Given the description of an element on the screen output the (x, y) to click on. 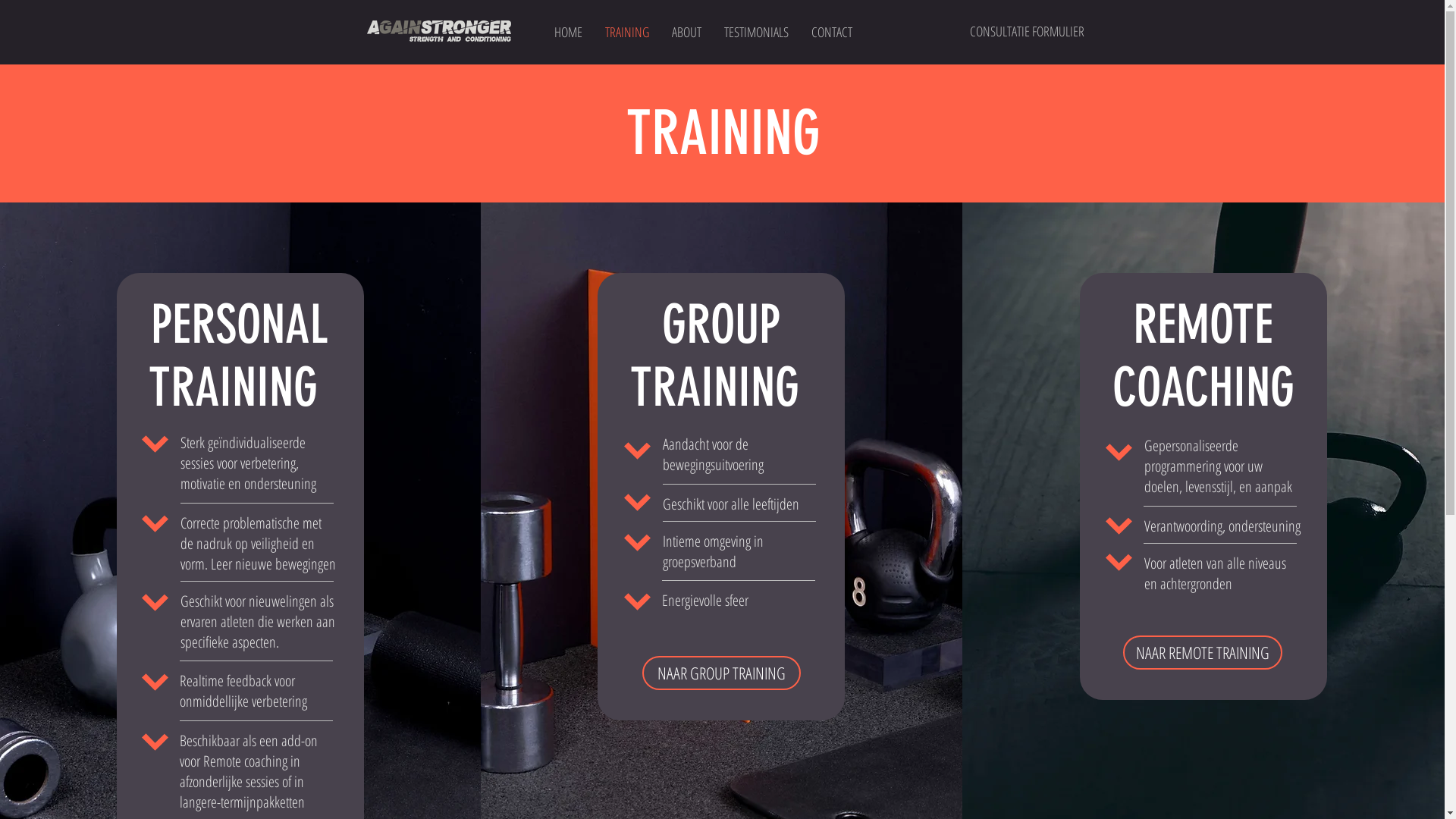
TRAINING Element type: text (626, 31)
HOME Element type: text (567, 31)
TESTIMONIALS Element type: text (756, 31)
ABOUT Element type: text (685, 31)
CONSULTATIE FORMULIER Element type: text (1026, 31)
CONTACT Element type: text (830, 31)
NAAR REMOTE TRAINING Element type: text (1202, 652)
NAAR GROUP TRAINING Element type: text (721, 672)
